Given the description of an element on the screen output the (x, y) to click on. 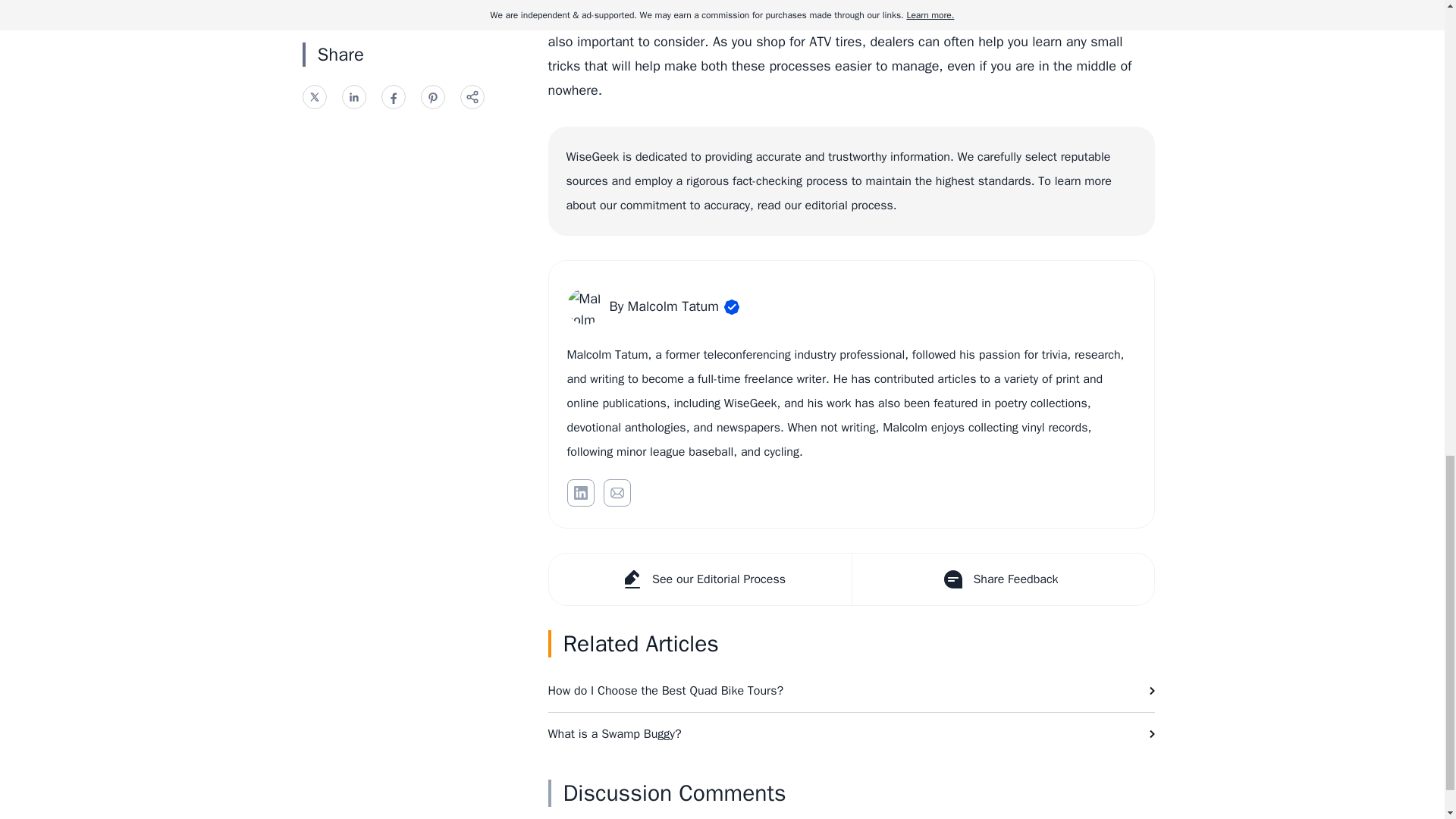
See our Editorial Process (699, 579)
How do I Choose the Best Quad Bike Tours? (850, 690)
Share Feedback (1001, 579)
What is a Swamp Buggy? (850, 733)
